Given the description of an element on the screen output the (x, y) to click on. 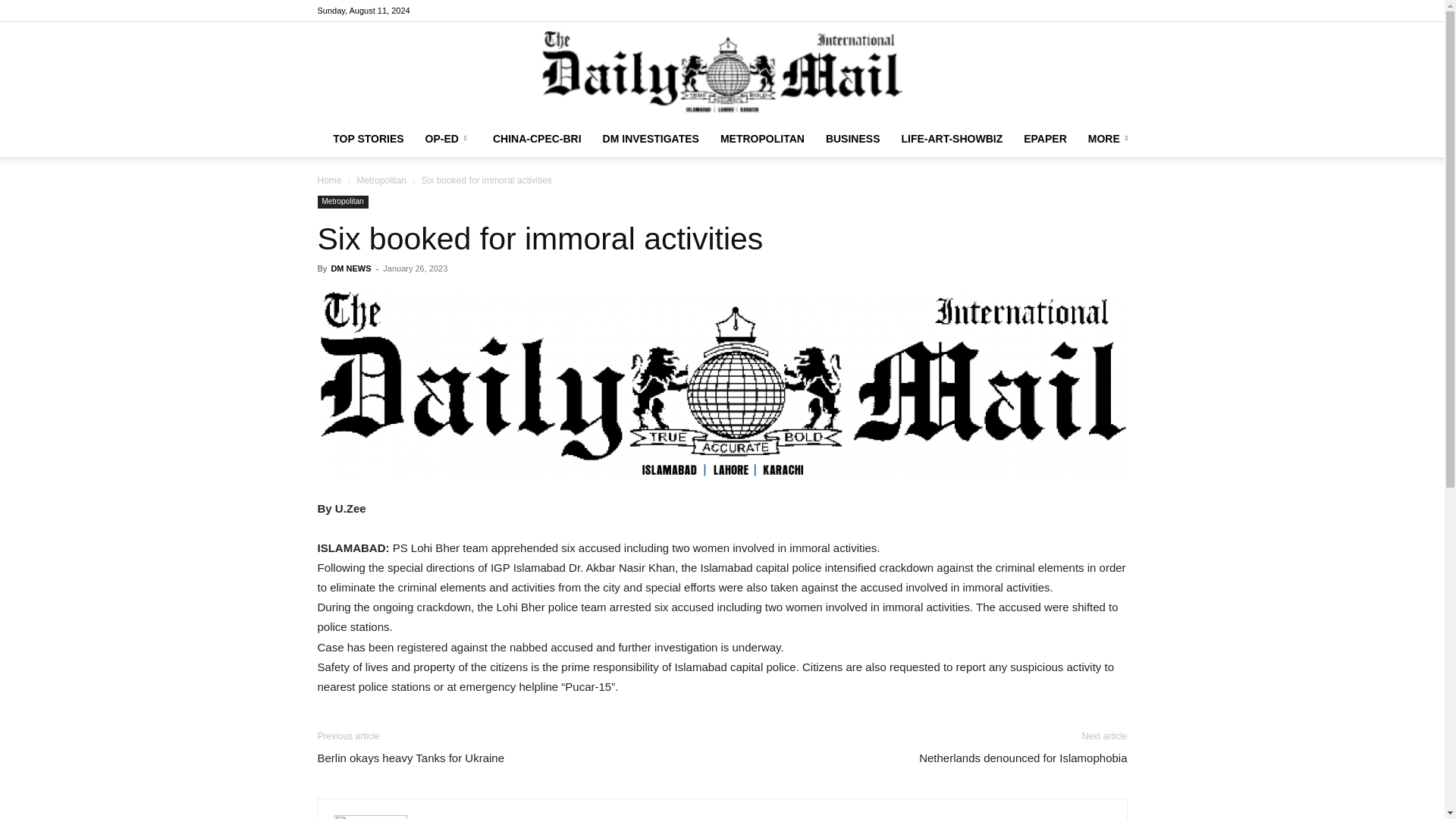
DM INVESTIGATES (651, 138)
METROPOLITAN (762, 138)
View all posts in Metropolitan (381, 180)
CHINA-CPEC-BRI (536, 138)
TOP STORIES (367, 138)
LIFE-ART-SHOWBIZ (951, 138)
BUSINESS (853, 138)
OP-ED (447, 138)
EPAPER (1045, 138)
